Given the description of an element on the screen output the (x, y) to click on. 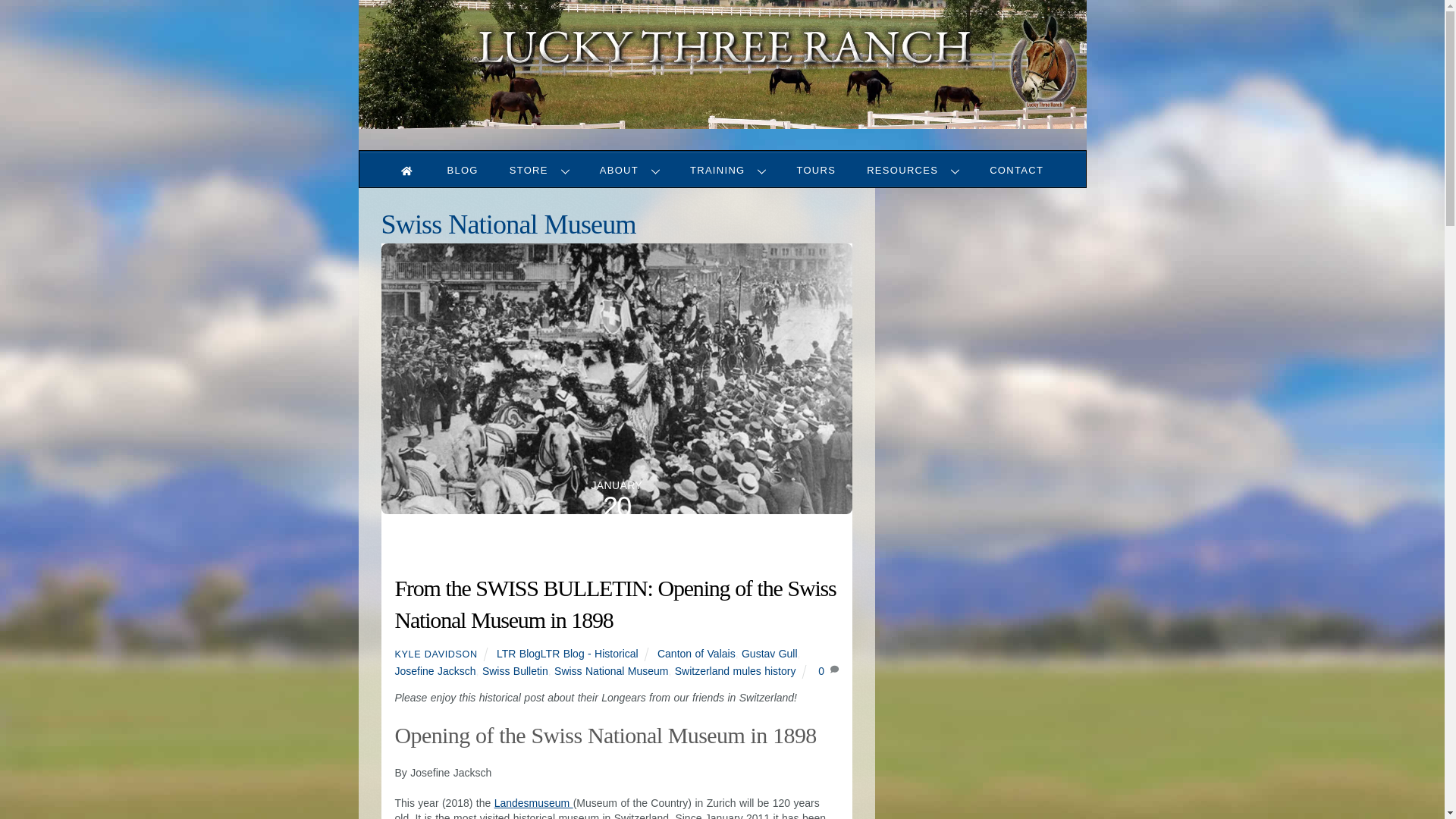
TRAINING (727, 170)
ABOUT (722, 161)
RESOURCES (629, 170)
STORE (912, 170)
TOURS (539, 170)
BLOG (815, 170)
